Given the description of an element on the screen output the (x, y) to click on. 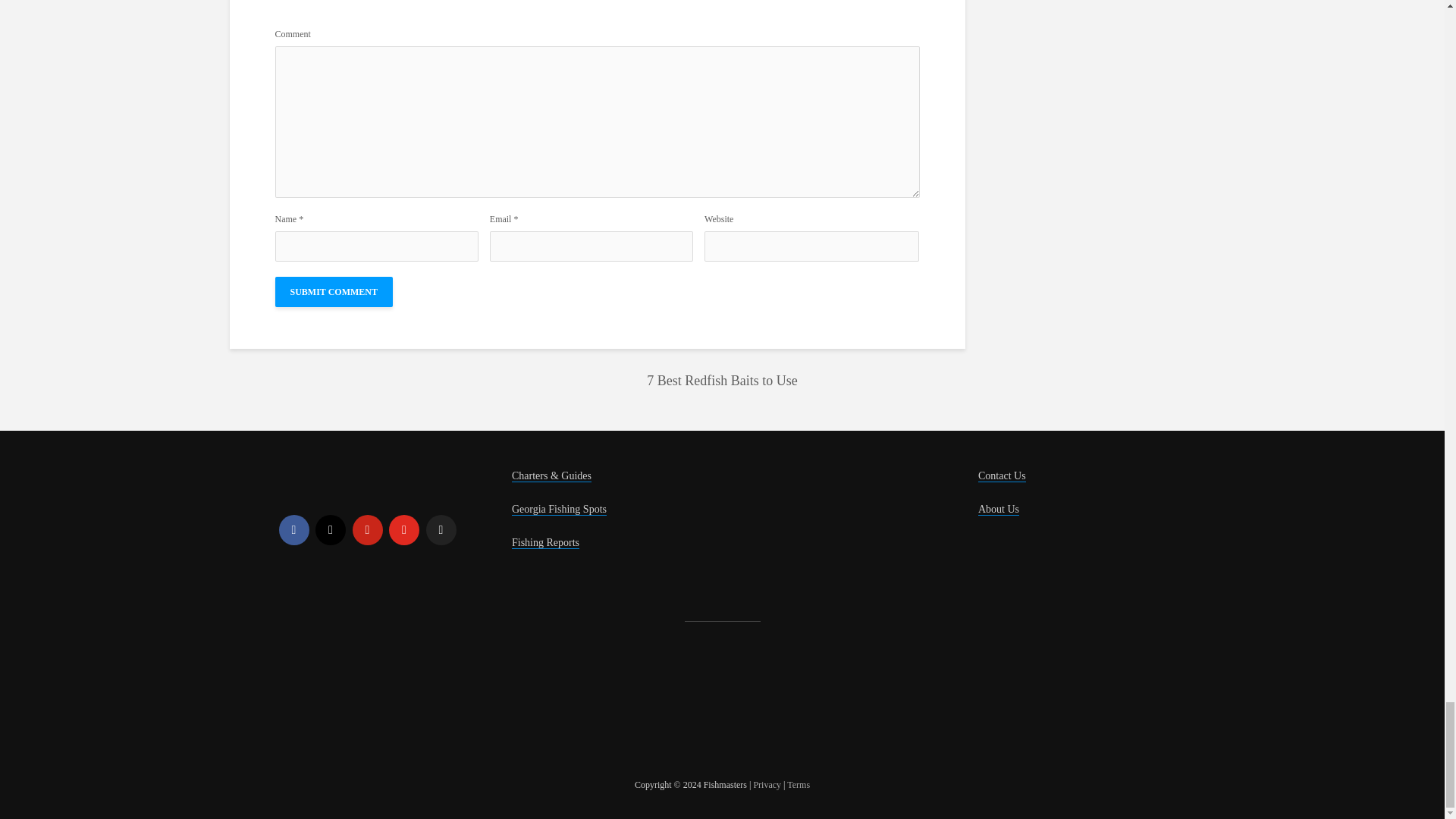
Pinterest (366, 530)
DMCA.com Protection Status (392, 703)
Instagram (330, 530)
Submit Comment (333, 291)
Facebook (293, 530)
YouTube (403, 530)
